Given the description of an element on the screen output the (x, y) to click on. 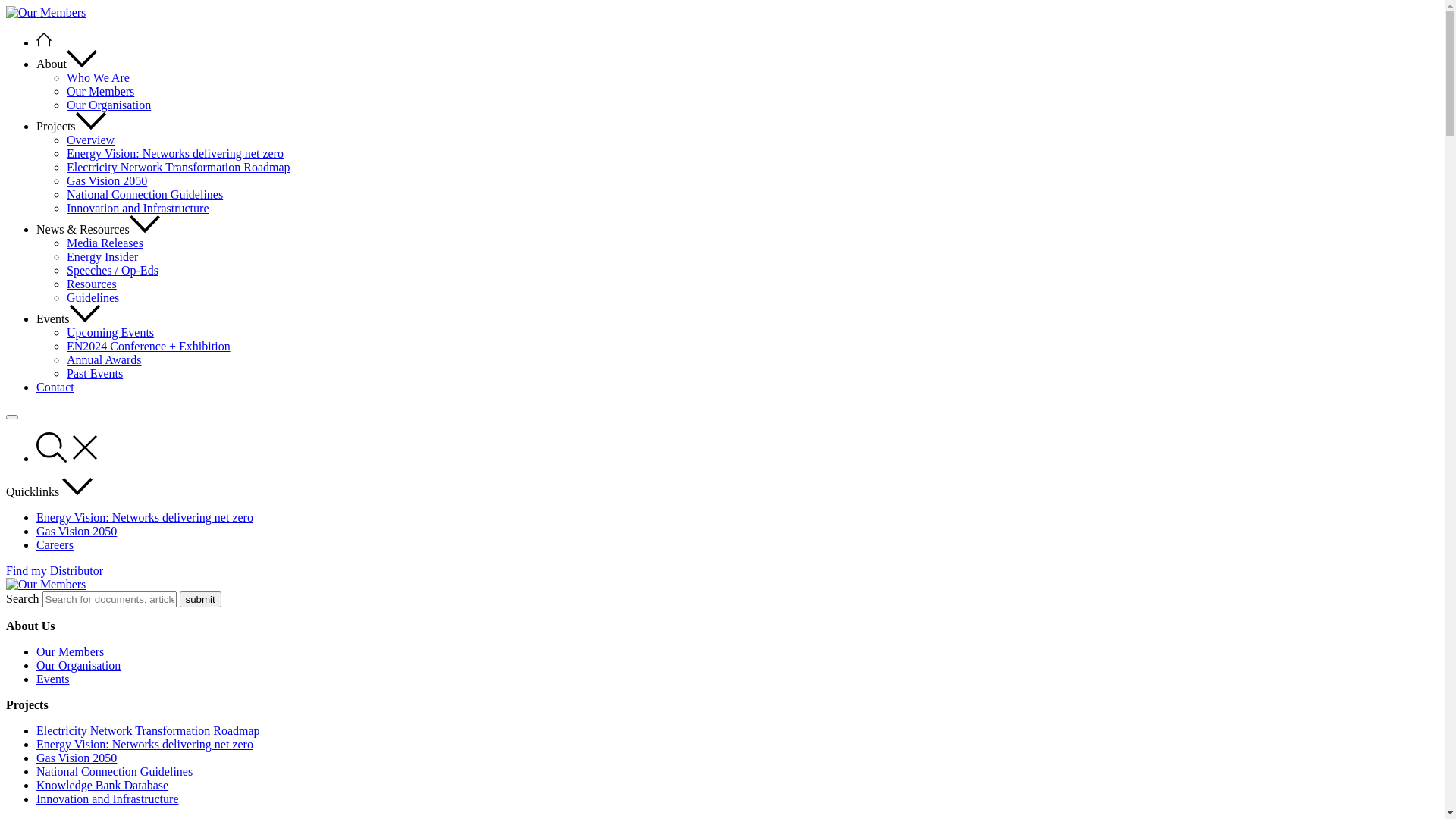
Contact Element type: text (55, 386)
Find my Distributor Element type: text (54, 570)
Overview Element type: text (90, 139)
Annual Awards Element type: text (103, 359)
Our Members Element type: hover (45, 12)
Events Element type: text (68, 318)
Energy Vision: Networks delivering net zero Element type: text (144, 517)
Gas Vision 2050 Element type: text (106, 180)
About Element type: text (66, 63)
Energy Insider Element type: text (102, 256)
submit Element type: text (200, 599)
Our Organisation Element type: text (108, 104)
Our Members Element type: text (100, 90)
Electricity Network Transformation Roadmap Element type: text (178, 166)
Gas Vision 2050 Element type: text (76, 530)
Our Members Element type: text (69, 651)
Who We Are Element type: text (97, 77)
Our Members Element type: hover (45, 584)
Projects Element type: text (71, 125)
EN2024 Conference + Exhibition Element type: text (148, 345)
National Connection Guidelines Element type: text (144, 194)
Upcoming Events Element type: text (109, 332)
Past Events Element type: text (94, 373)
Resources Element type: text (91, 283)
Innovation and Infrastructure Element type: text (107, 798)
Knowledge Bank Database Element type: text (102, 784)
Guidelines Element type: text (92, 297)
Gas Vision 2050 Element type: text (76, 757)
Careers Element type: text (54, 544)
Speeches / Op-Eds Element type: text (112, 269)
National Connection Guidelines Element type: text (114, 771)
Media Releases Element type: text (104, 242)
Energy Vision: Networks delivering net zero Element type: text (174, 153)
Innovation and Infrastructure Element type: text (137, 207)
Electricity Network Transformation Roadmap Element type: text (148, 730)
Our Organisation Element type: text (78, 664)
News & Resources Element type: text (98, 228)
Events Element type: text (52, 678)
Energy Vision: Networks delivering net zero Element type: text (144, 743)
